Given the description of an element on the screen output the (x, y) to click on. 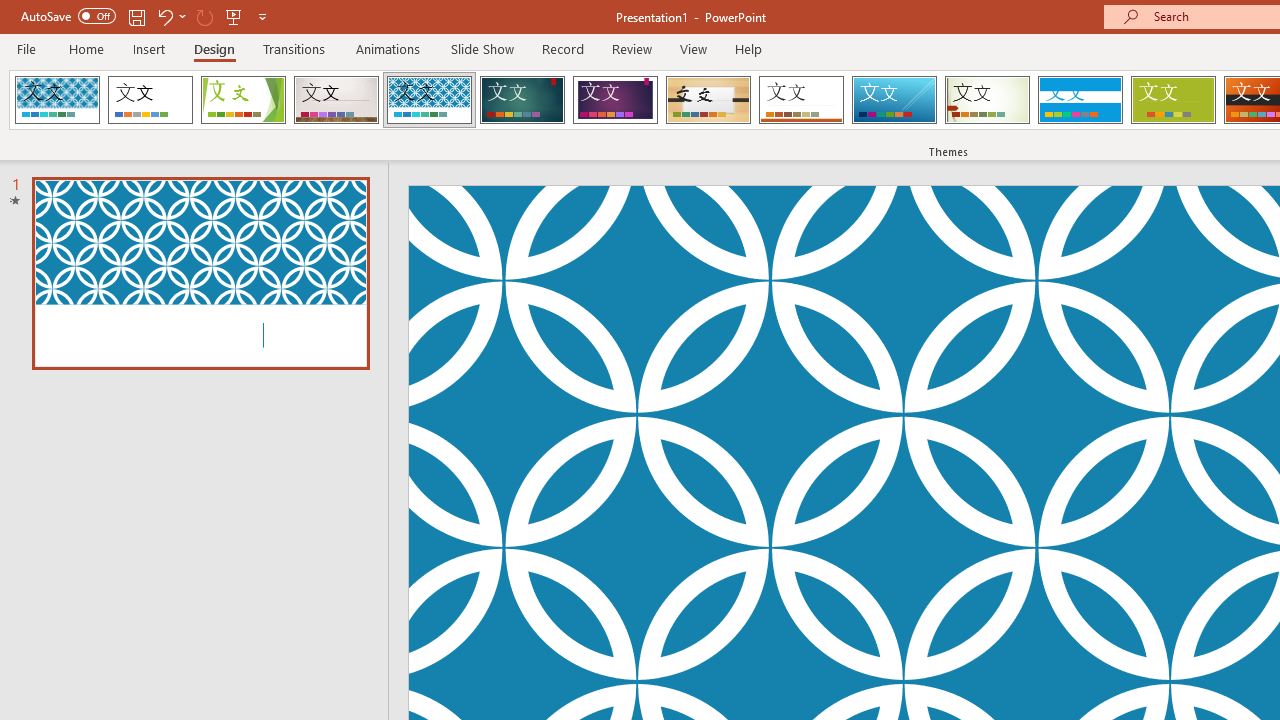
Ion Boardroom Loading Preview... (615, 100)
Organic Loading Preview... (708, 100)
Slice Loading Preview... (893, 100)
Office Theme (150, 100)
Facet (243, 100)
Gallery Loading Preview... (336, 100)
